Given the description of an element on the screen output the (x, y) to click on. 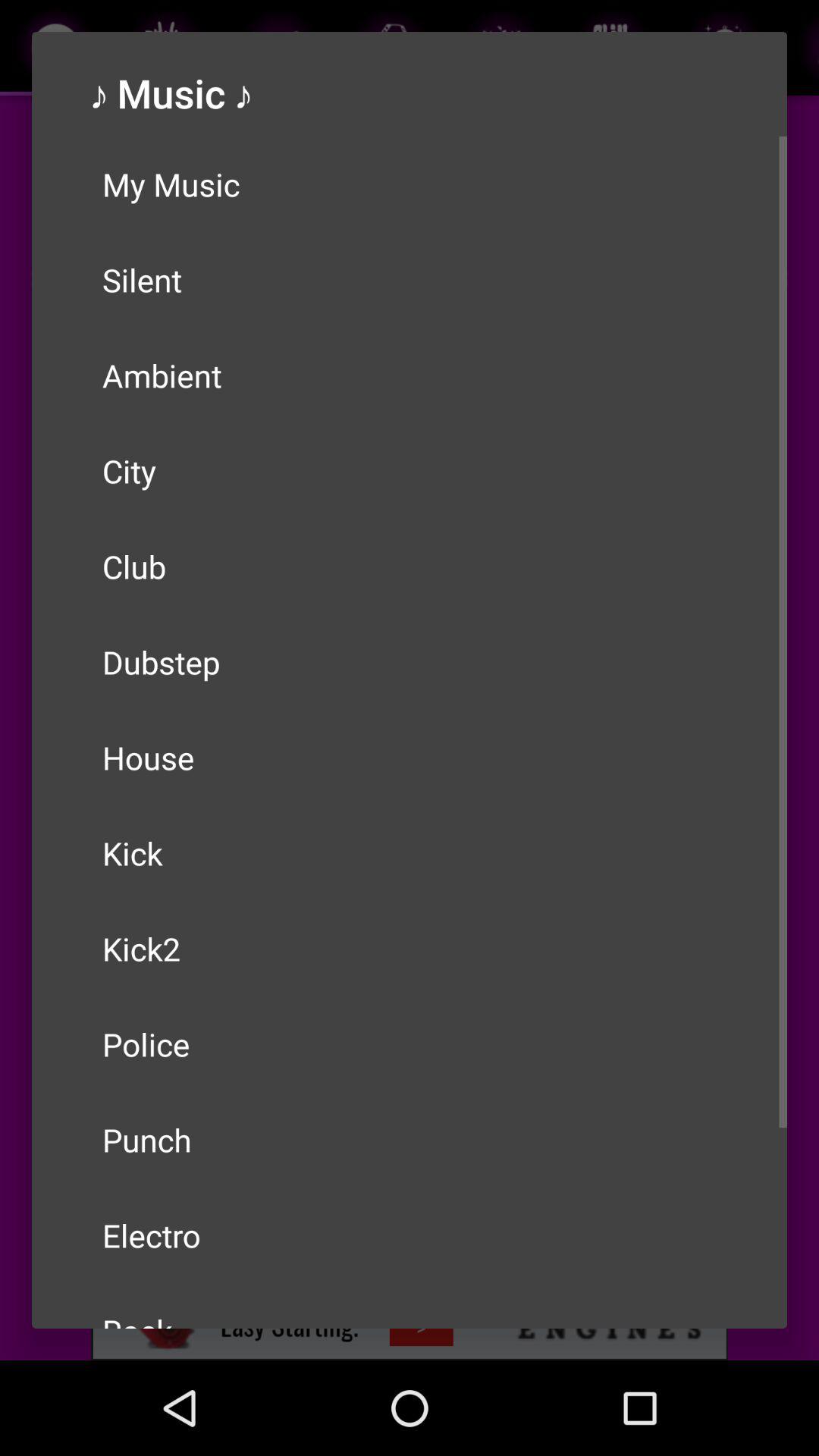
turn on the 		punch icon (409, 1139)
